Given the description of an element on the screen output the (x, y) to click on. 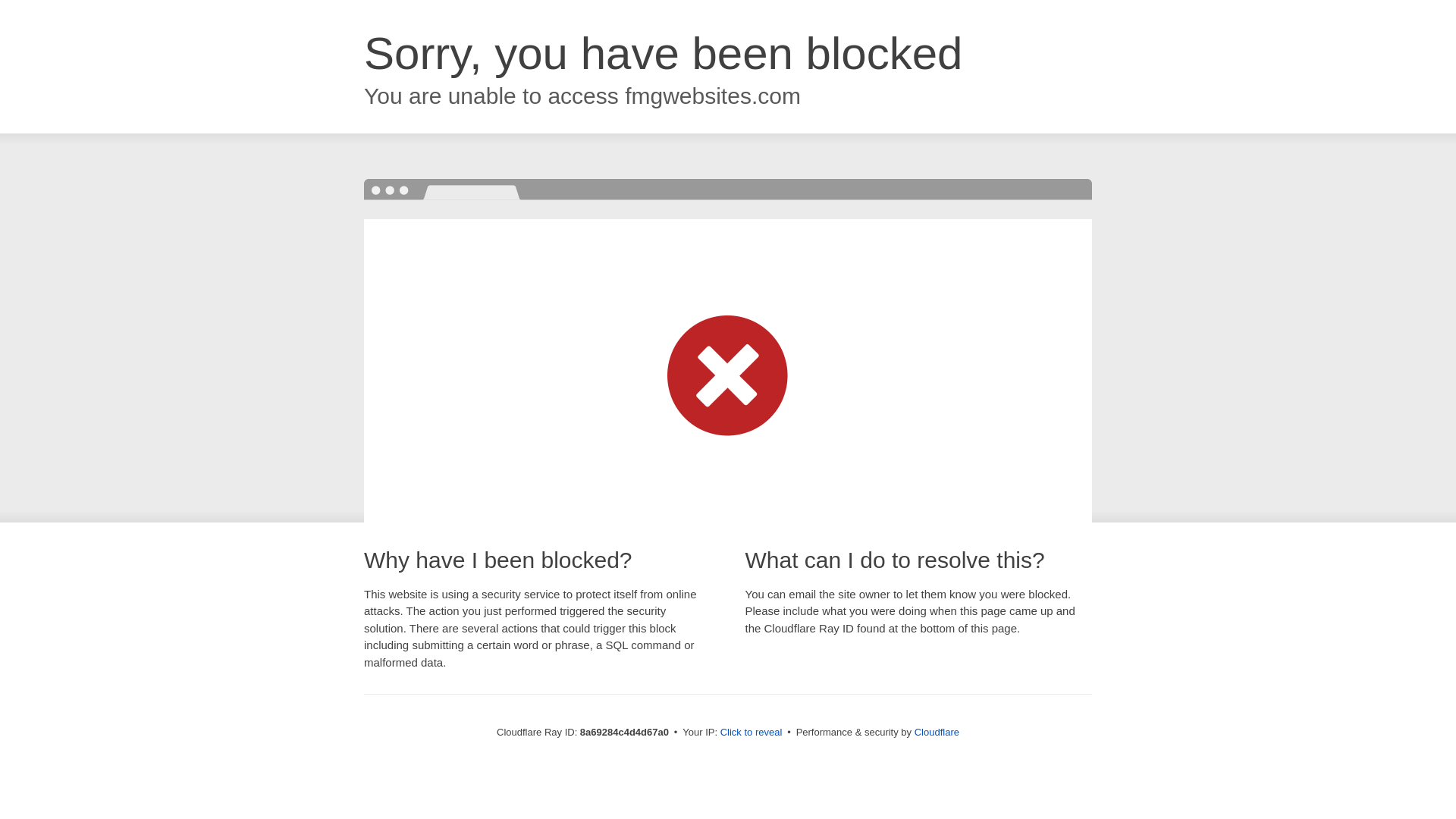
Cloudflare (936, 731)
Click to reveal (751, 732)
